Given the description of an element on the screen output the (x, y) to click on. 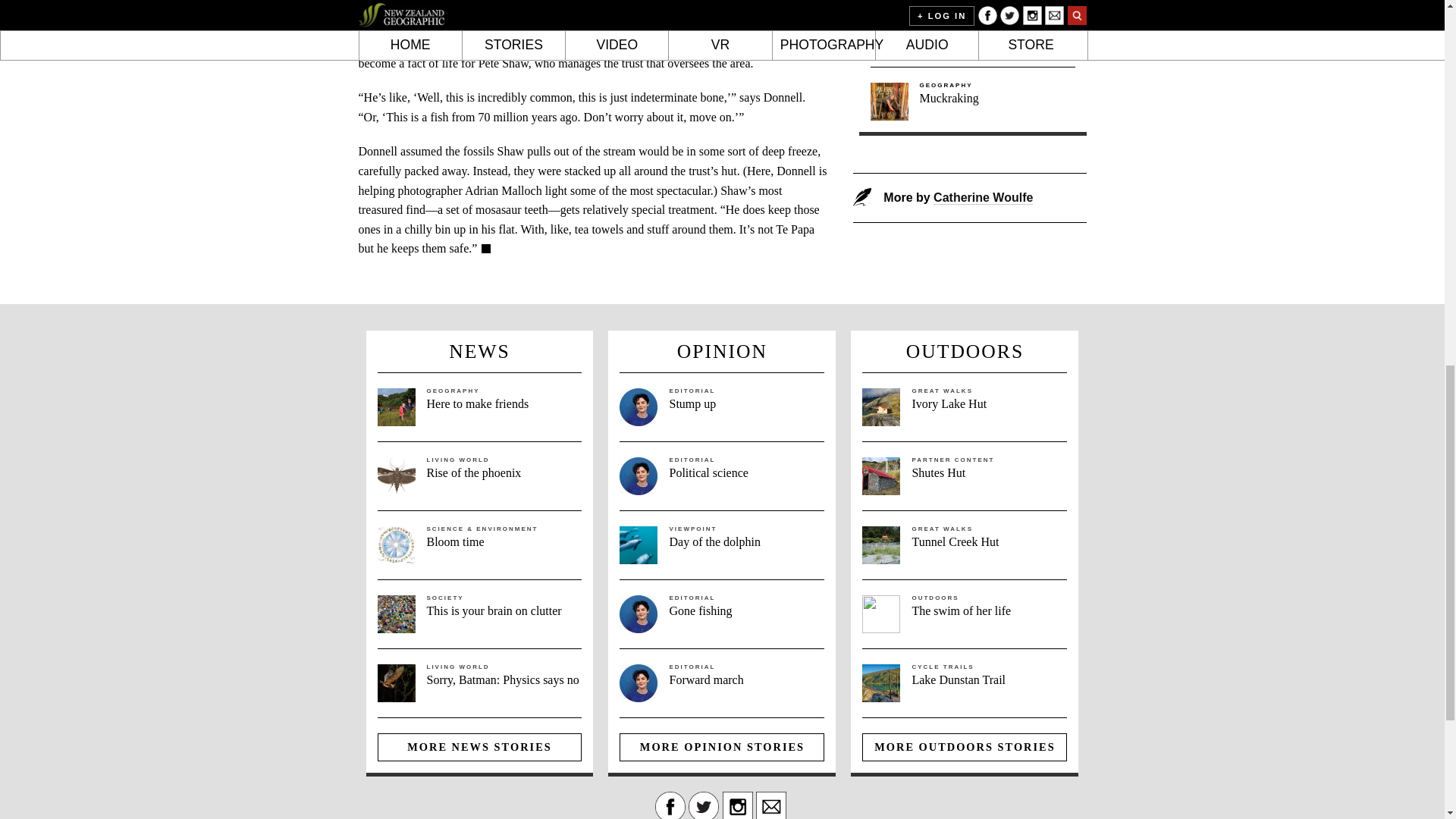
Posts by Catherine Woulfe (982, 197)
